Given the description of an element on the screen output the (x, y) to click on. 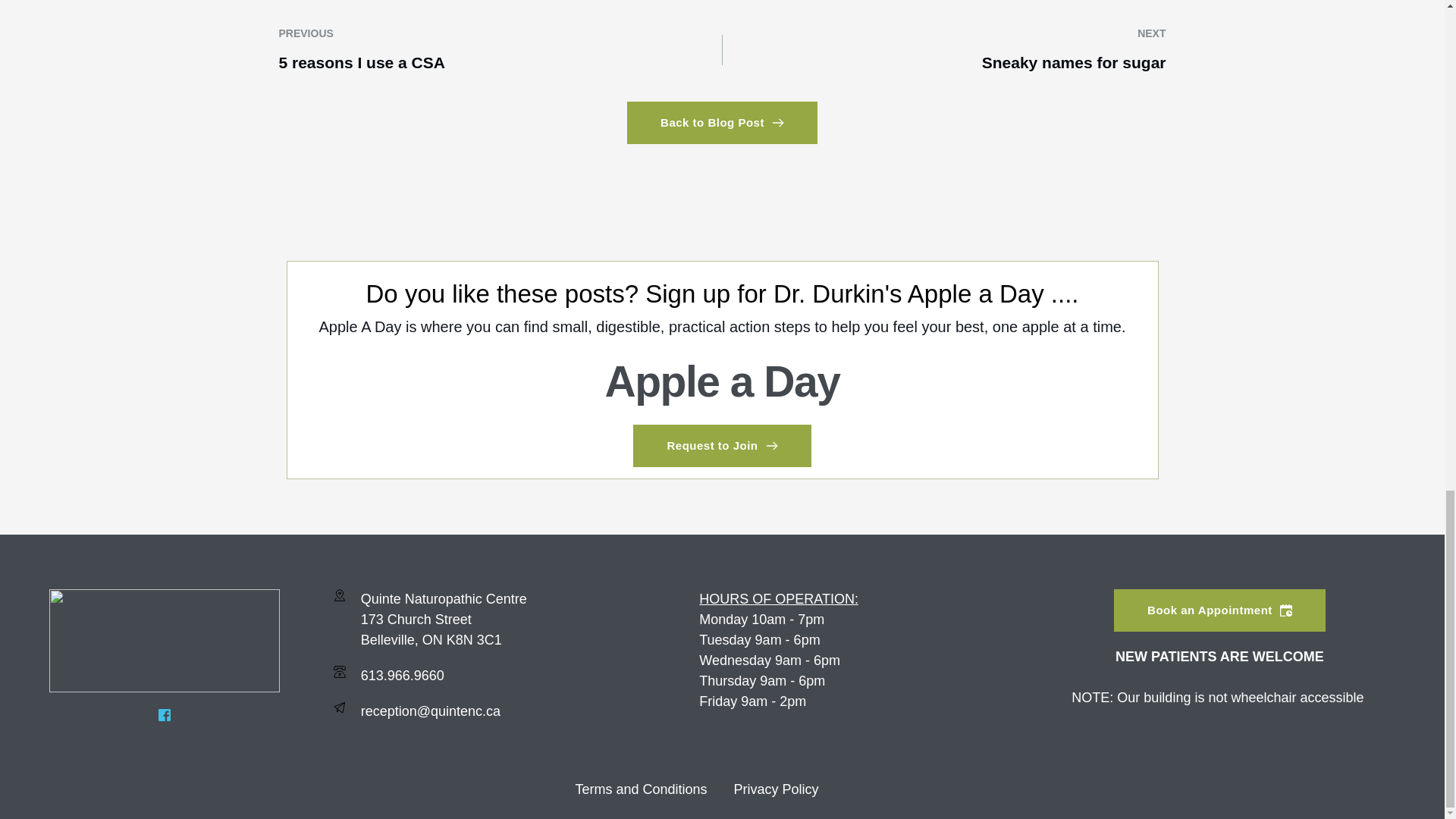
Privacy Policy (775, 789)
Request to Join (721, 445)
Back to Blog Post (721, 122)
5 reasons I use a CSA (362, 62)
Book an Appointment (1218, 609)
Sneaky names for sugar (1073, 62)
Terms and Conditions  (642, 789)
